Given the description of an element on the screen output the (x, y) to click on. 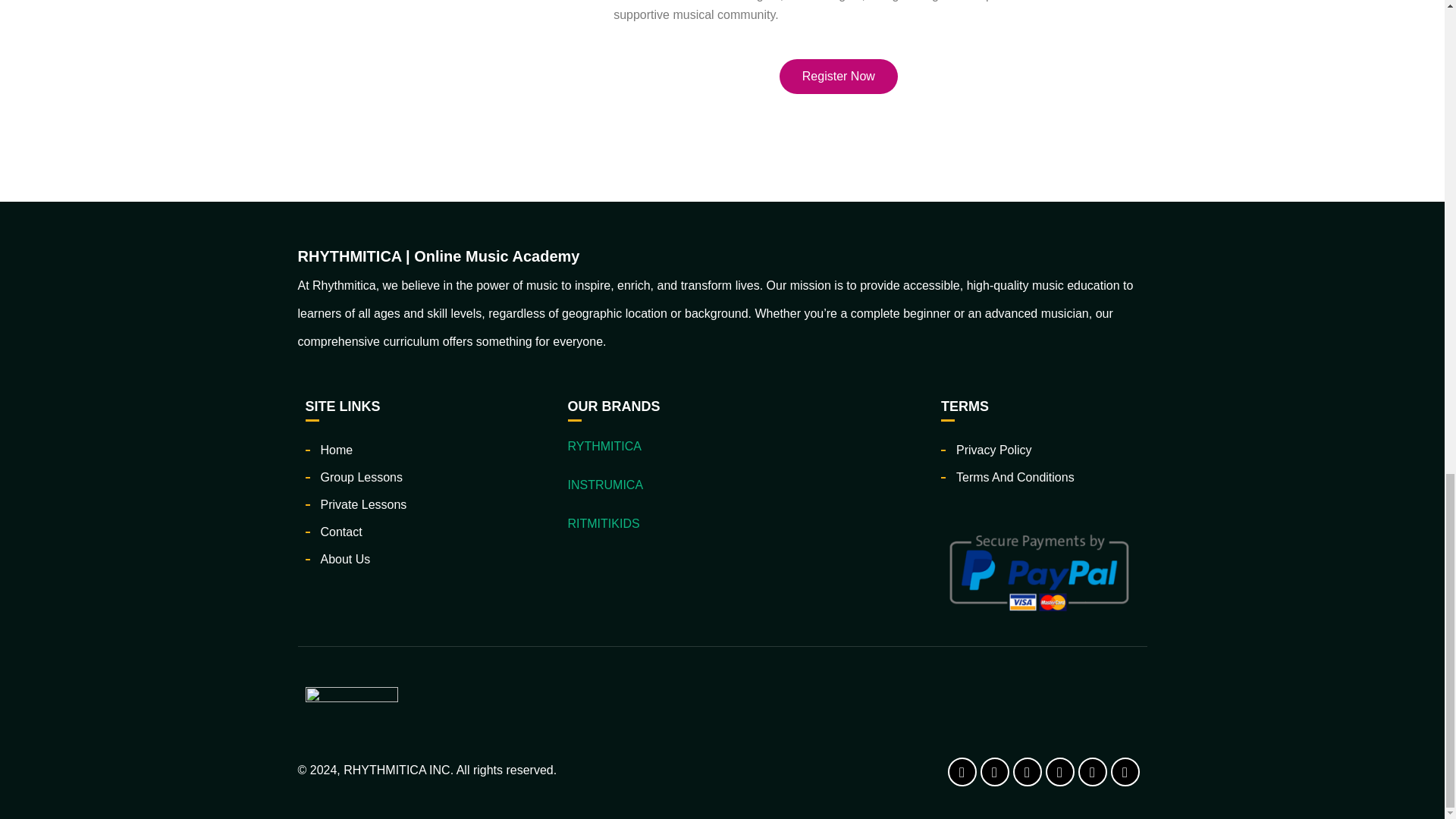
Privacy Policy (994, 449)
Group Lessons (361, 477)
About Us (344, 558)
Home (336, 449)
Private Lessons (363, 504)
Terms And Conditions (1015, 477)
INSTRUMICA (605, 484)
Register Now (838, 76)
Contact (340, 531)
RITMITIKIDS (603, 522)
